Given the description of an element on the screen output the (x, y) to click on. 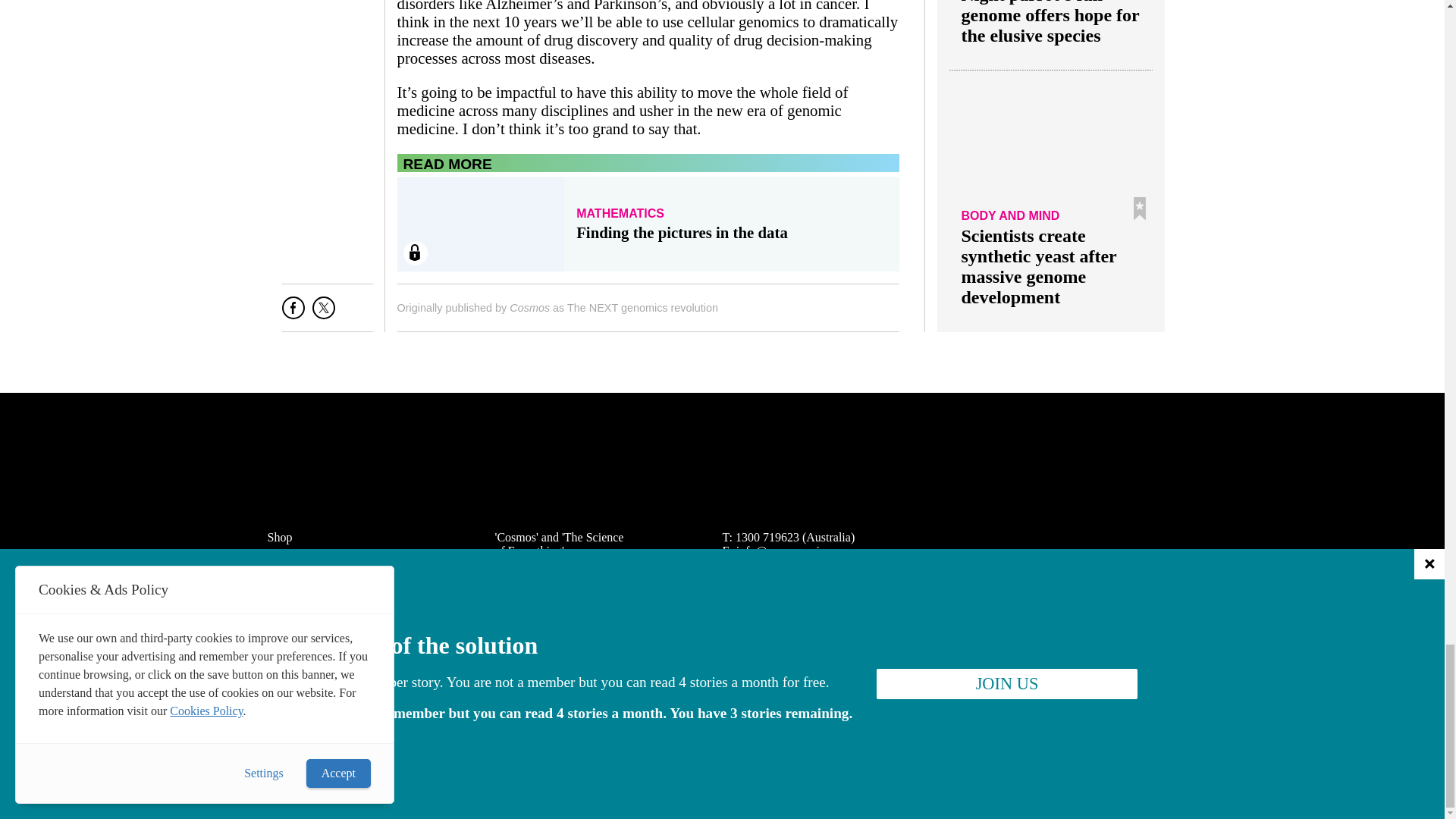
The NEXT genomics revolution (642, 307)
Share on Facebook (293, 313)
Tweet (323, 313)
